Given the description of an element on the screen output the (x, y) to click on. 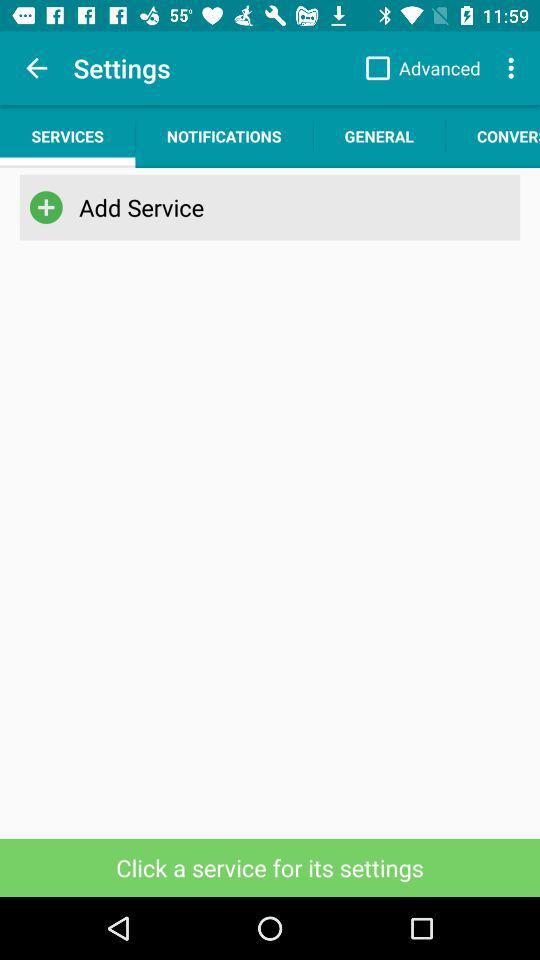
jump to the advanced checkbox (418, 68)
